Given the description of an element on the screen output the (x, y) to click on. 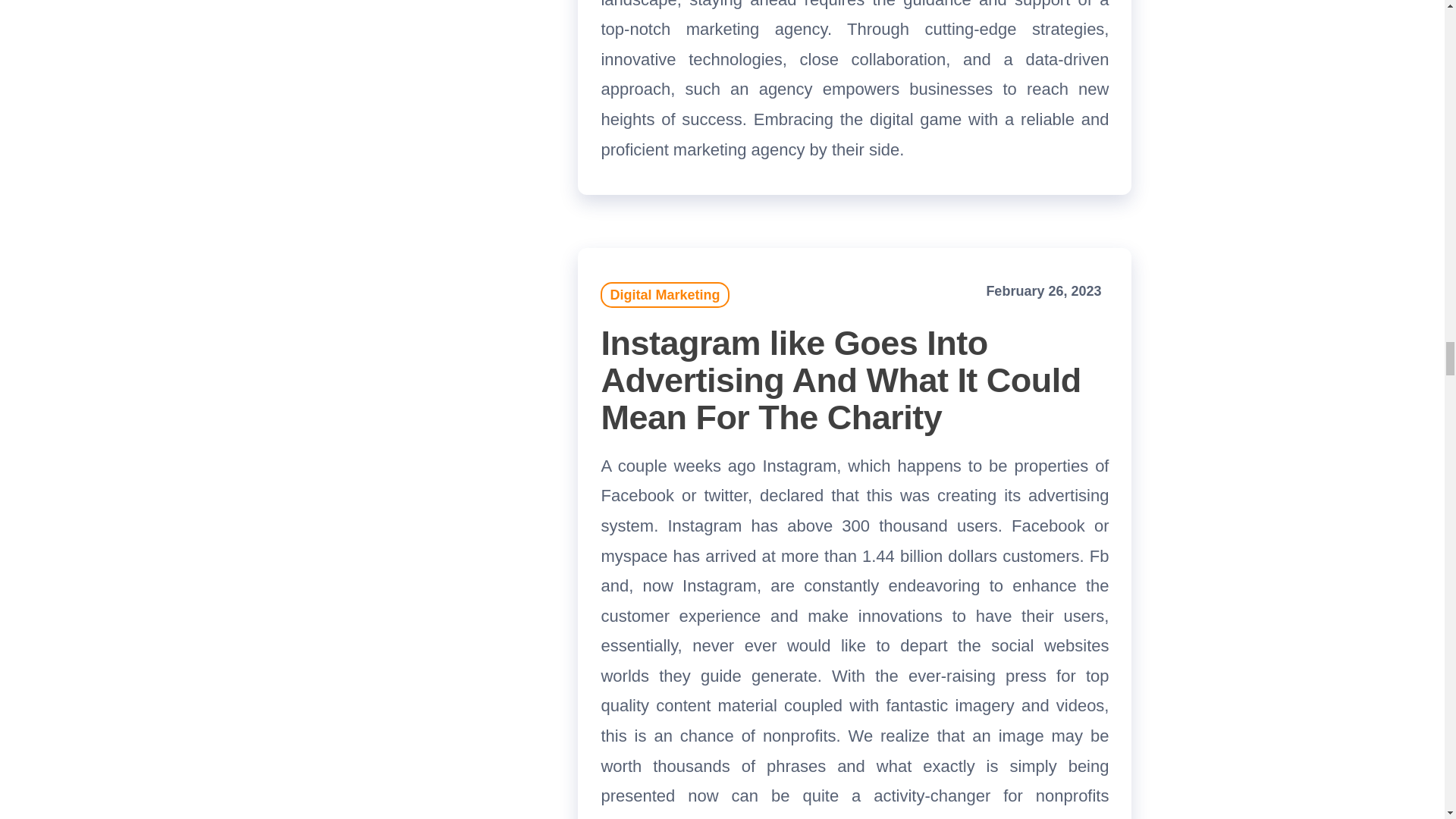
Digital Marketing (664, 294)
